Given the description of an element on the screen output the (x, y) to click on. 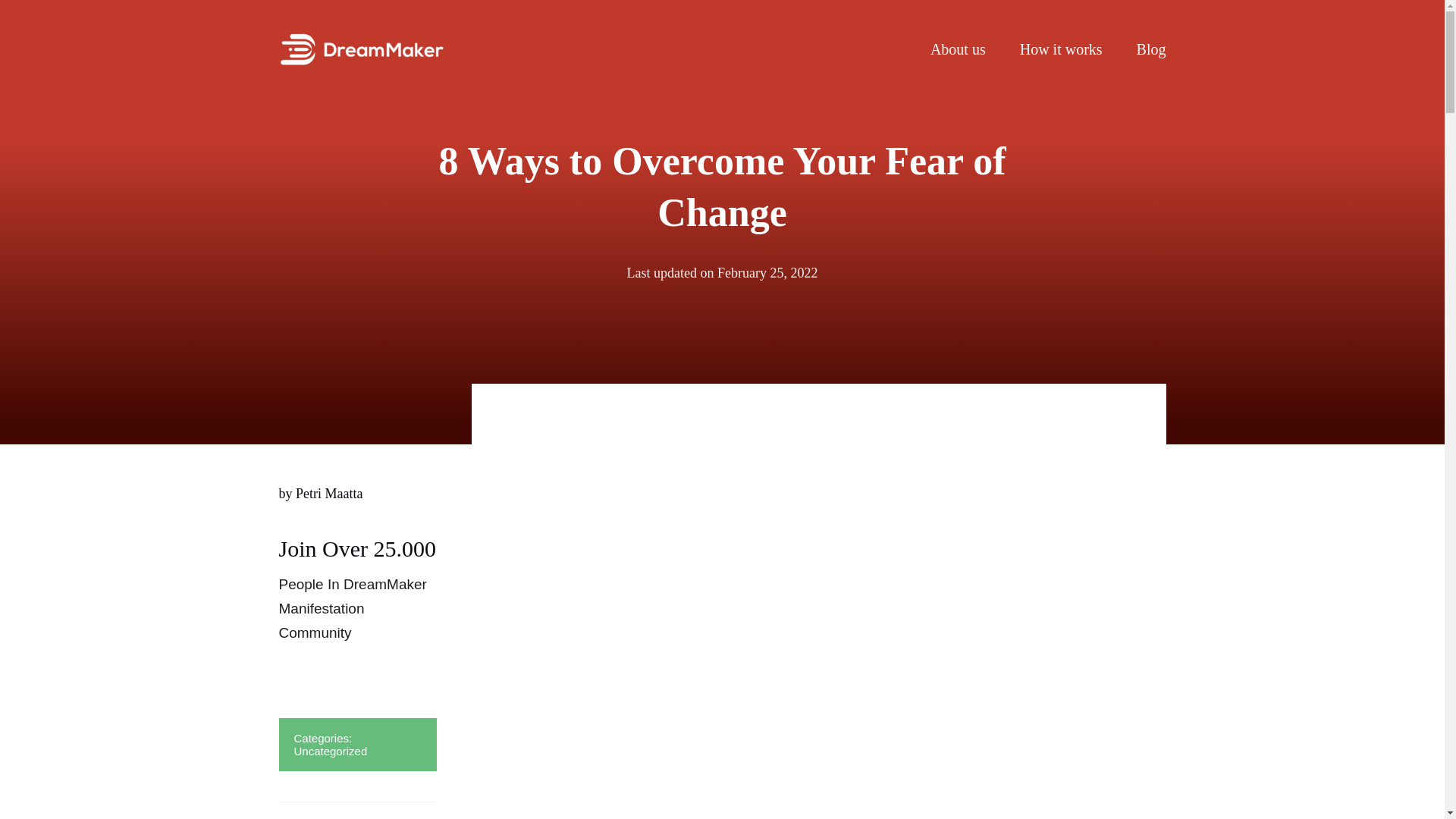
Uncategorized (331, 750)
About us (957, 48)
How it works (1061, 48)
